Given the description of an element on the screen output the (x, y) to click on. 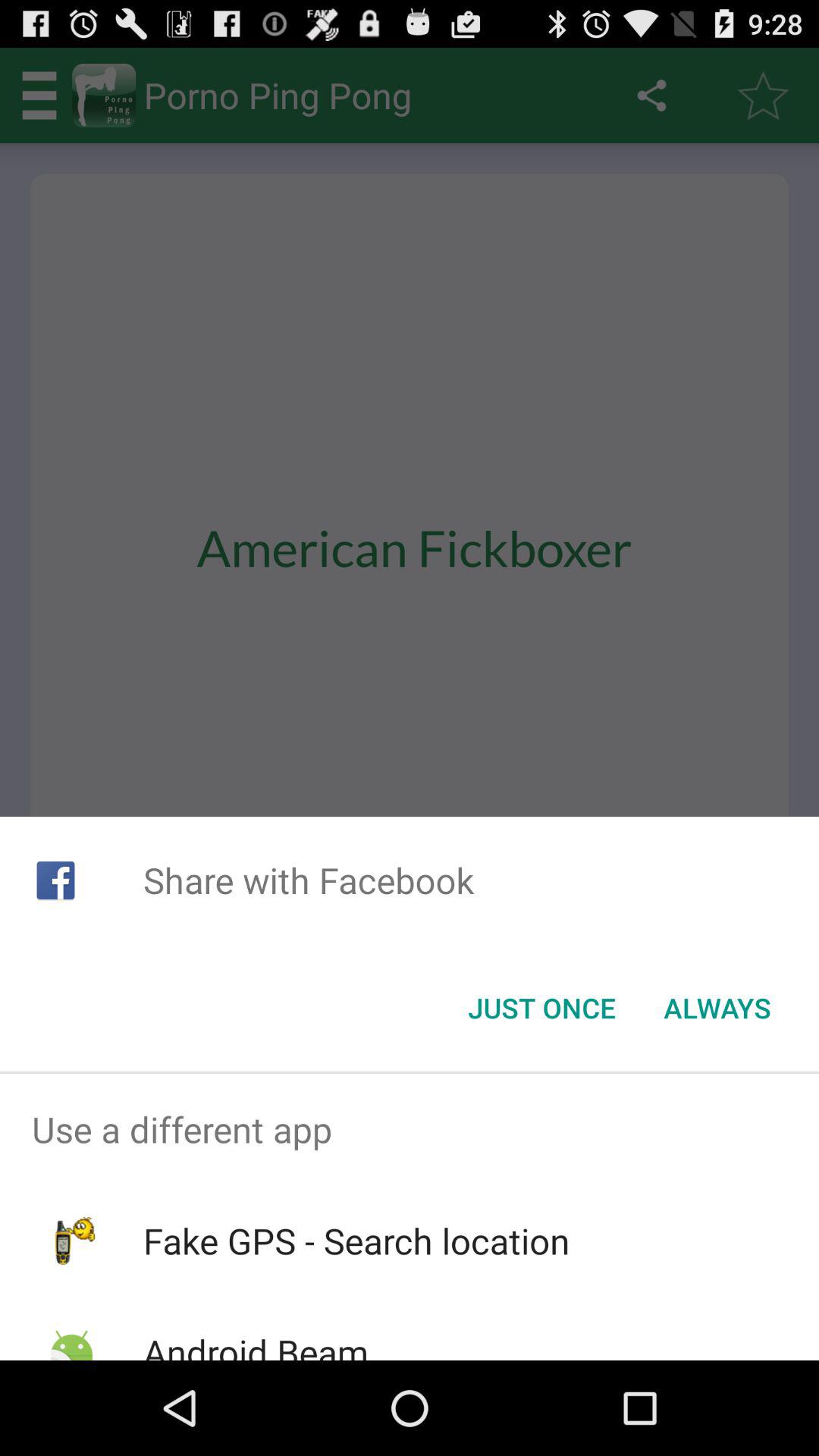
press icon below the share with facebook (717, 1007)
